Given the description of an element on the screen output the (x, y) to click on. 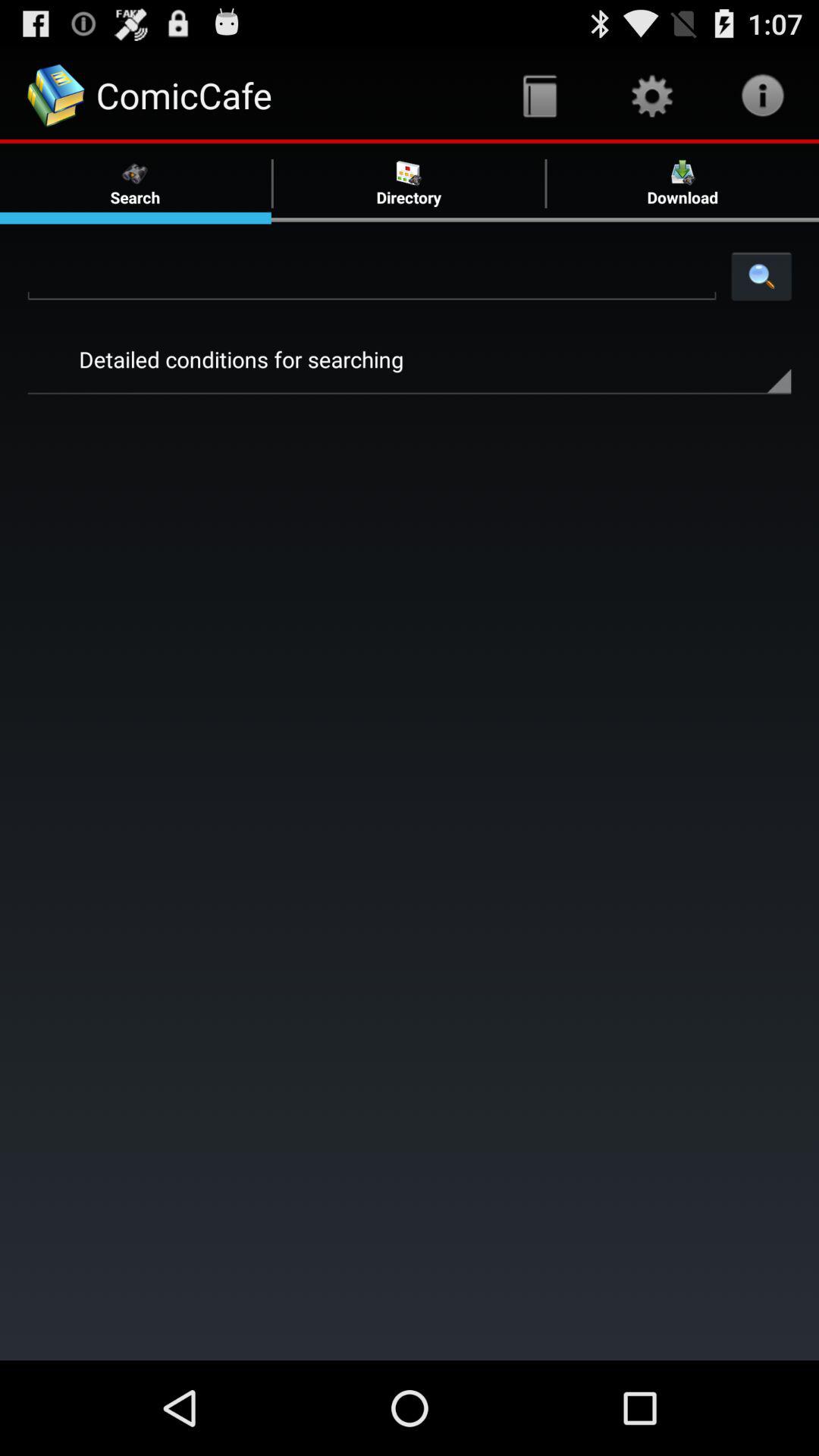
icon before comiccafe (55, 95)
